Given the description of an element on the screen output the (x, y) to click on. 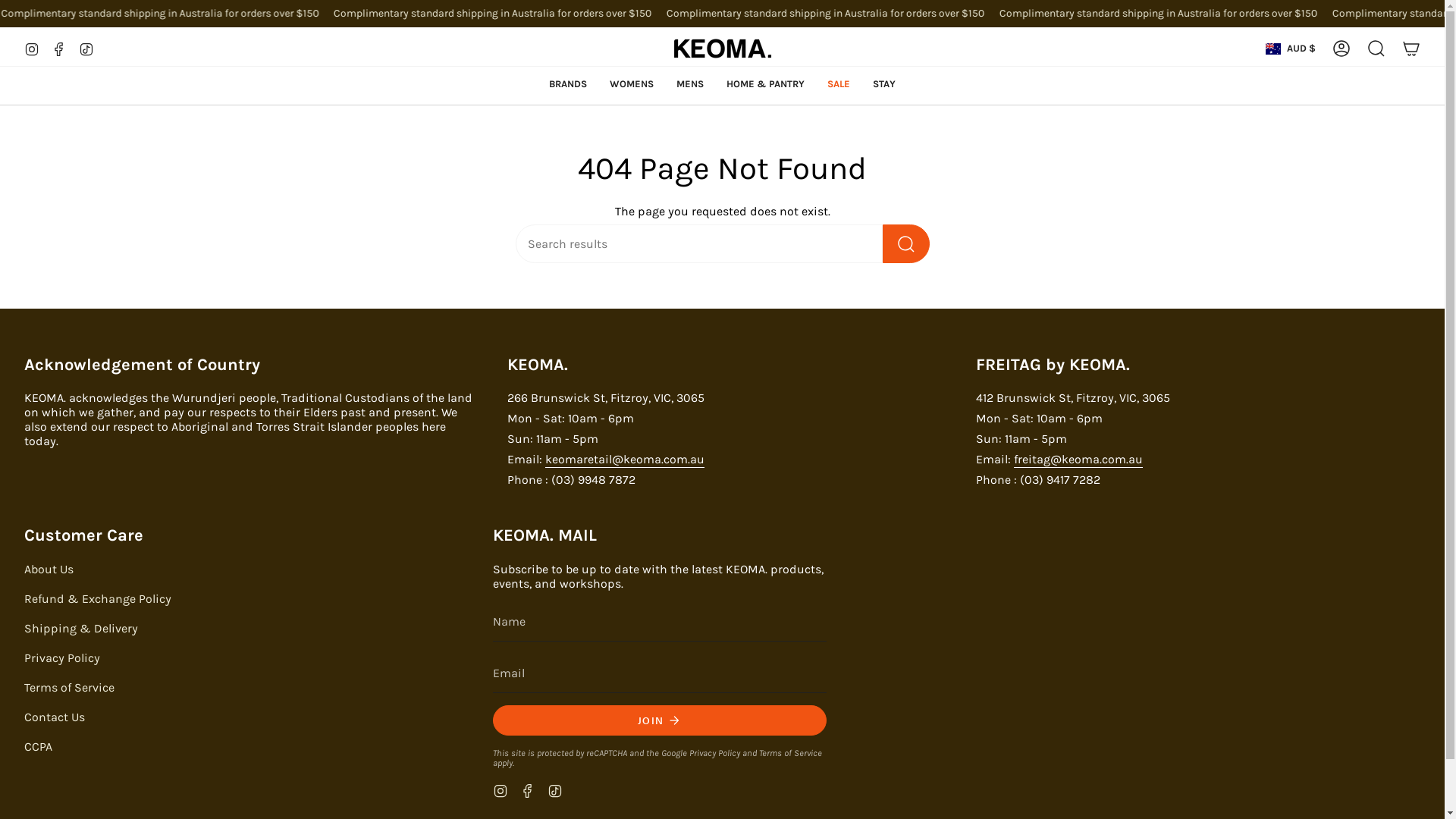
keomaretail@keoma.com.au Element type: text (624, 460)
WOMENS Element type: text (631, 83)
About Us Element type: text (48, 568)
HOME & PANTRY Element type: text (765, 83)
Refund & Exchange Policy Element type: text (97, 598)
Contact Us Element type: text (54, 716)
Facebook Element type: text (58, 47)
AUD $ Element type: text (1290, 48)
TikTok Element type: text (86, 47)
ACCOUNT Element type: text (1341, 48)
MENS Element type: text (690, 83)
Privacy Policy Element type: text (62, 657)
Instagram Element type: text (500, 789)
Instagram Element type: text (31, 47)
Privacy Policy Element type: text (714, 752)
BRANDS Element type: text (567, 83)
Shipping & Delivery Element type: text (81, 628)
CART Element type: text (1410, 48)
TikTok Element type: text (554, 789)
freitag@keoma.com.au Element type: text (1077, 460)
CCPA Element type: text (38, 746)
JOIN Element type: text (659, 720)
STAY Element type: text (883, 83)
Terms of Service Element type: text (69, 687)
Facebook Element type: text (527, 789)
SALE Element type: text (838, 83)
Terms of Service Element type: text (790, 752)
